Given the description of an element on the screen output the (x, y) to click on. 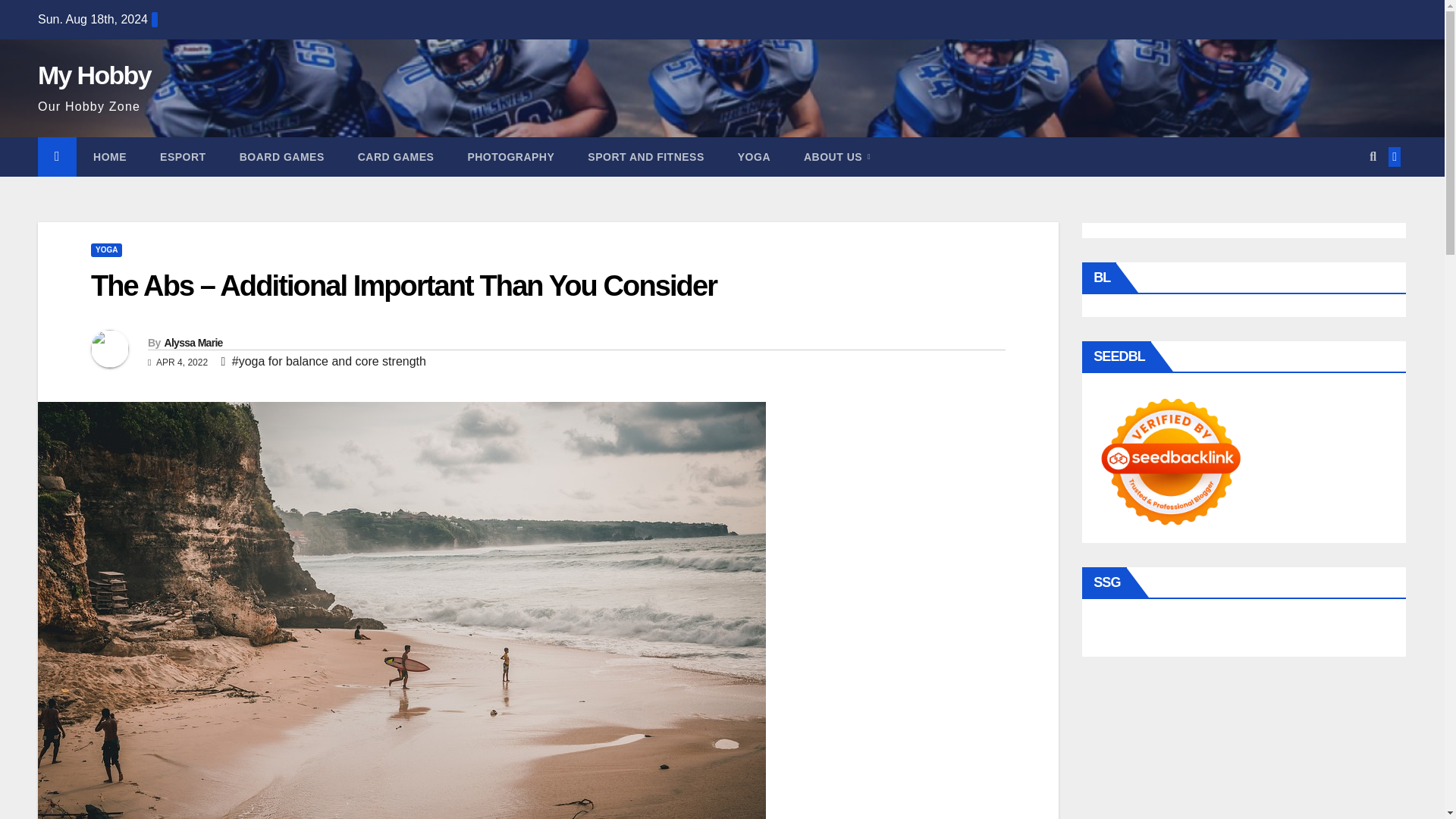
YOGA (106, 250)
Board Games (281, 156)
ABOUT US (836, 156)
BOARD GAMES (281, 156)
Yoga (753, 156)
Sport and fitness (645, 156)
YOGA (753, 156)
SPORT AND FITNESS (645, 156)
ESPORT (182, 156)
HOME (109, 156)
